Given the description of an element on the screen output the (x, y) to click on. 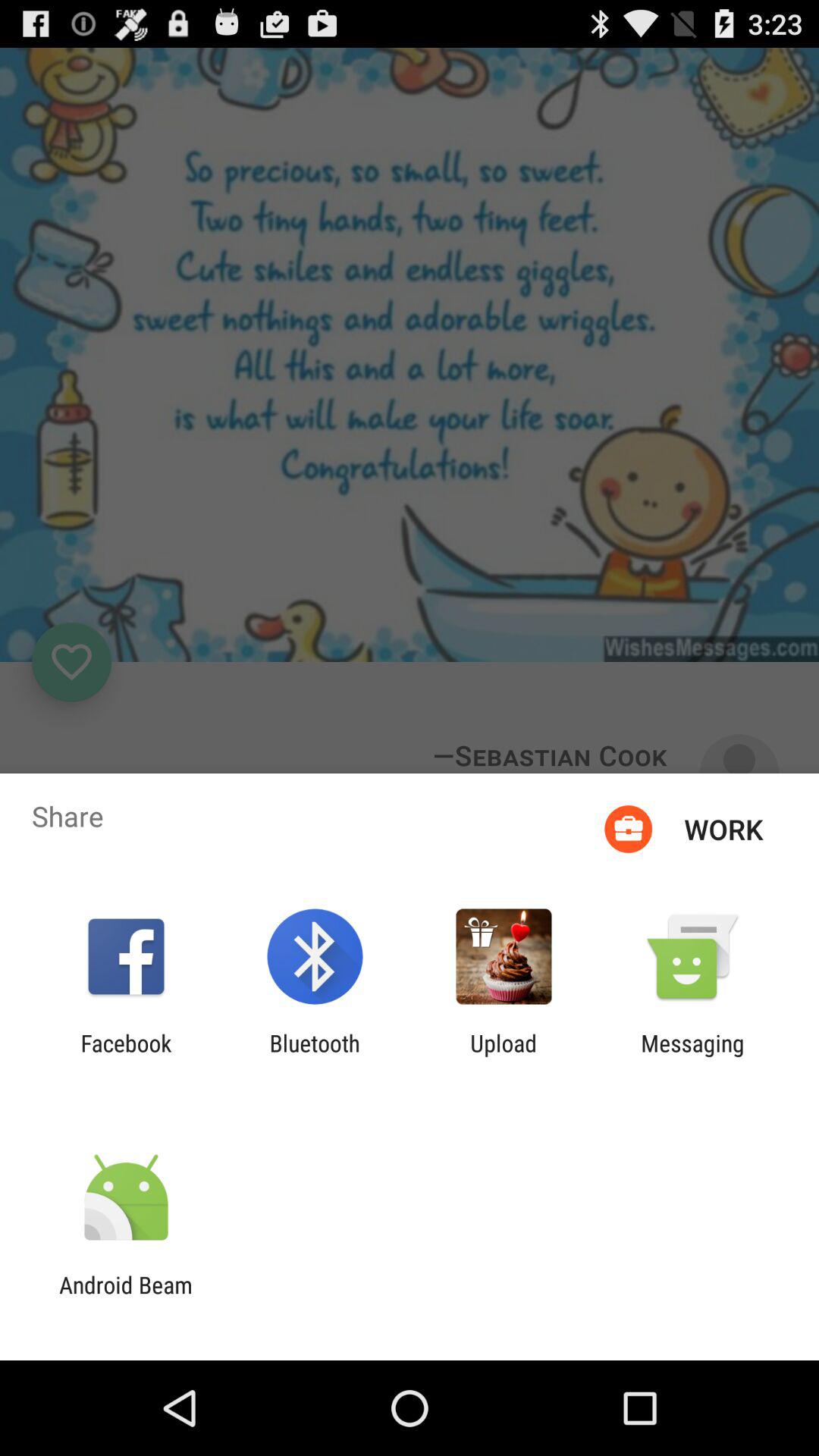
turn on icon next to upload icon (314, 1056)
